Given the description of an element on the screen output the (x, y) to click on. 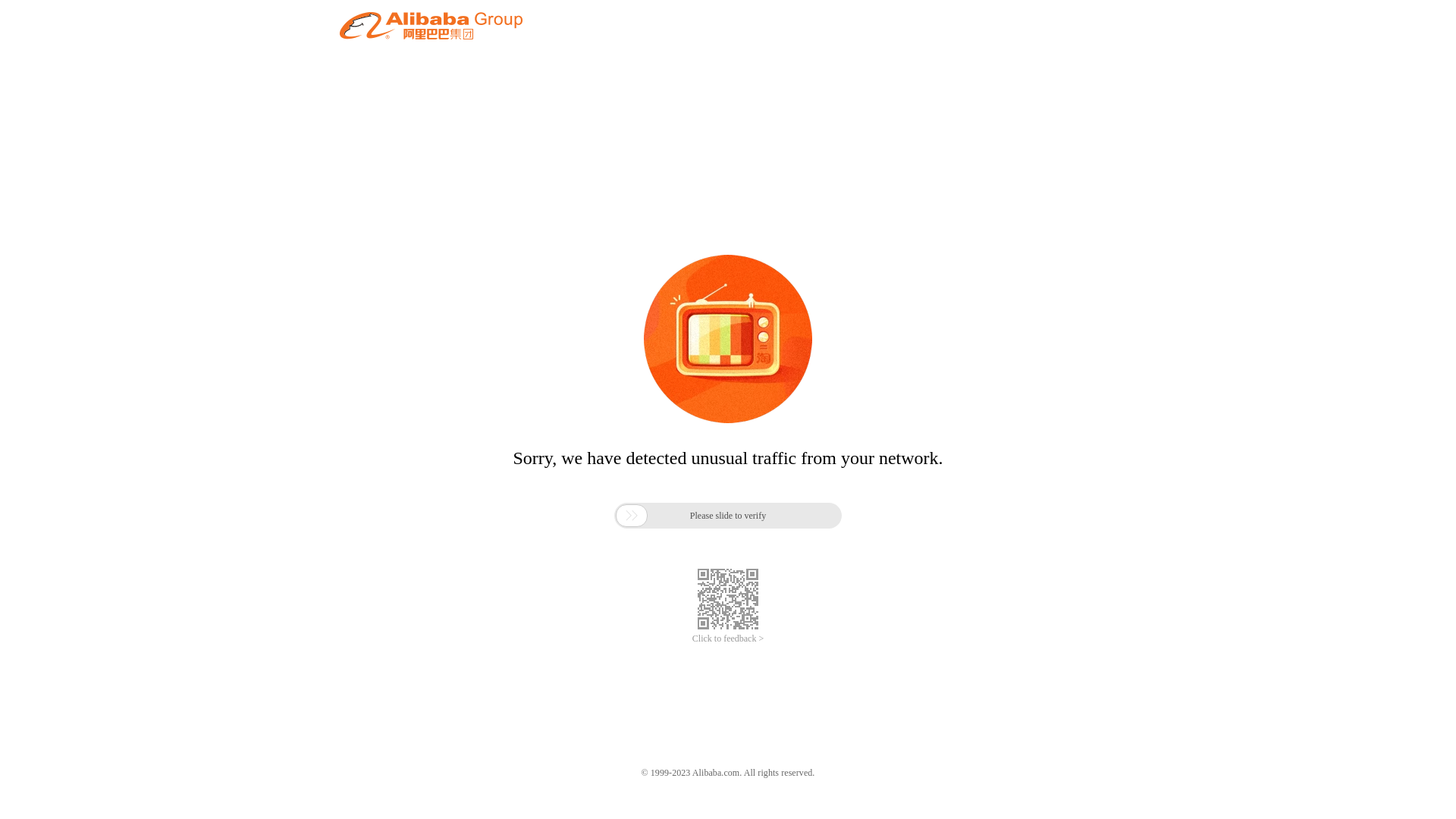
Click to feedback > Element type: text (727, 638)
